Given the description of an element on the screen output the (x, y) to click on. 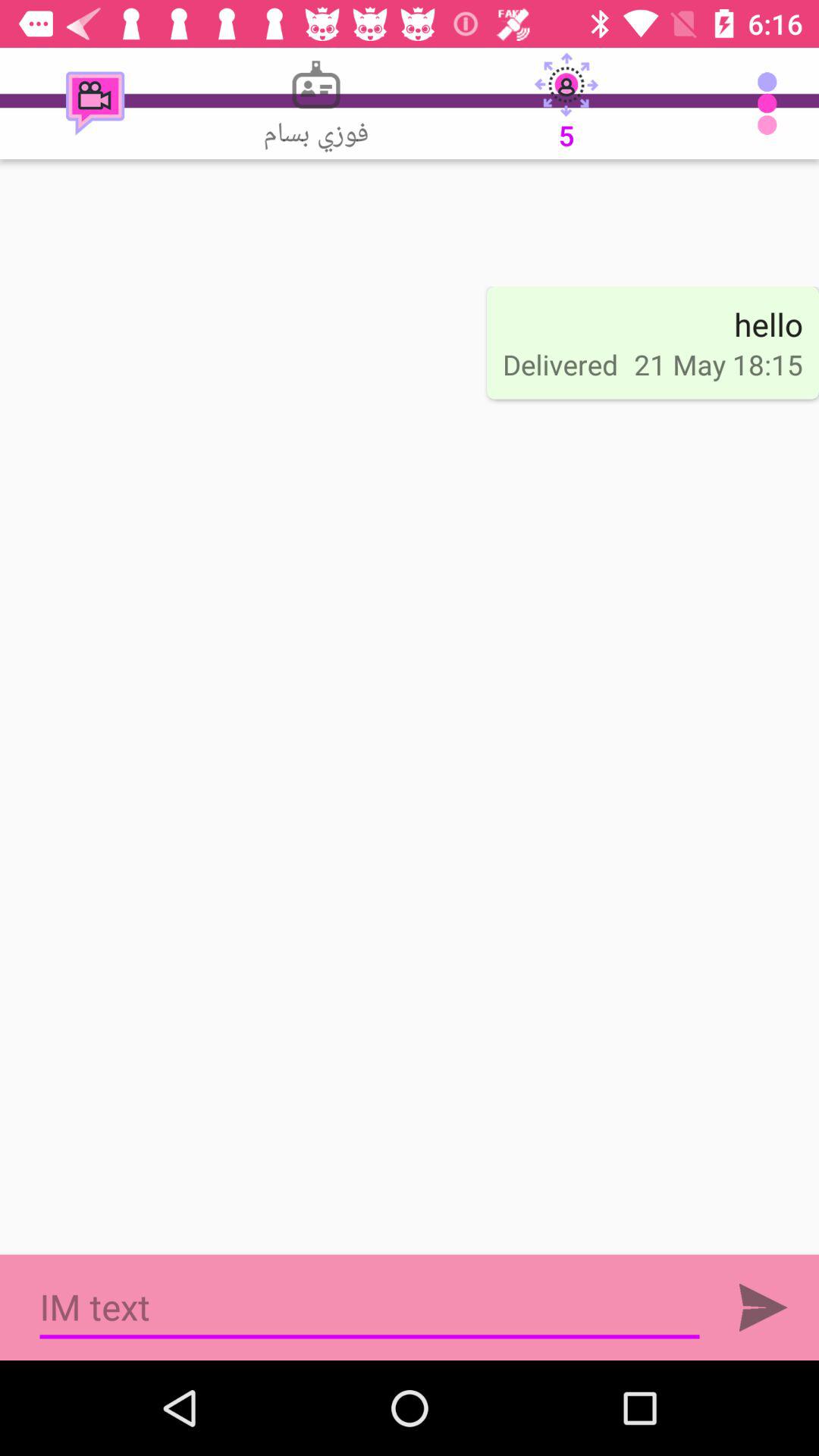
type a text message (369, 1307)
